Given the description of an element on the screen output the (x, y) to click on. 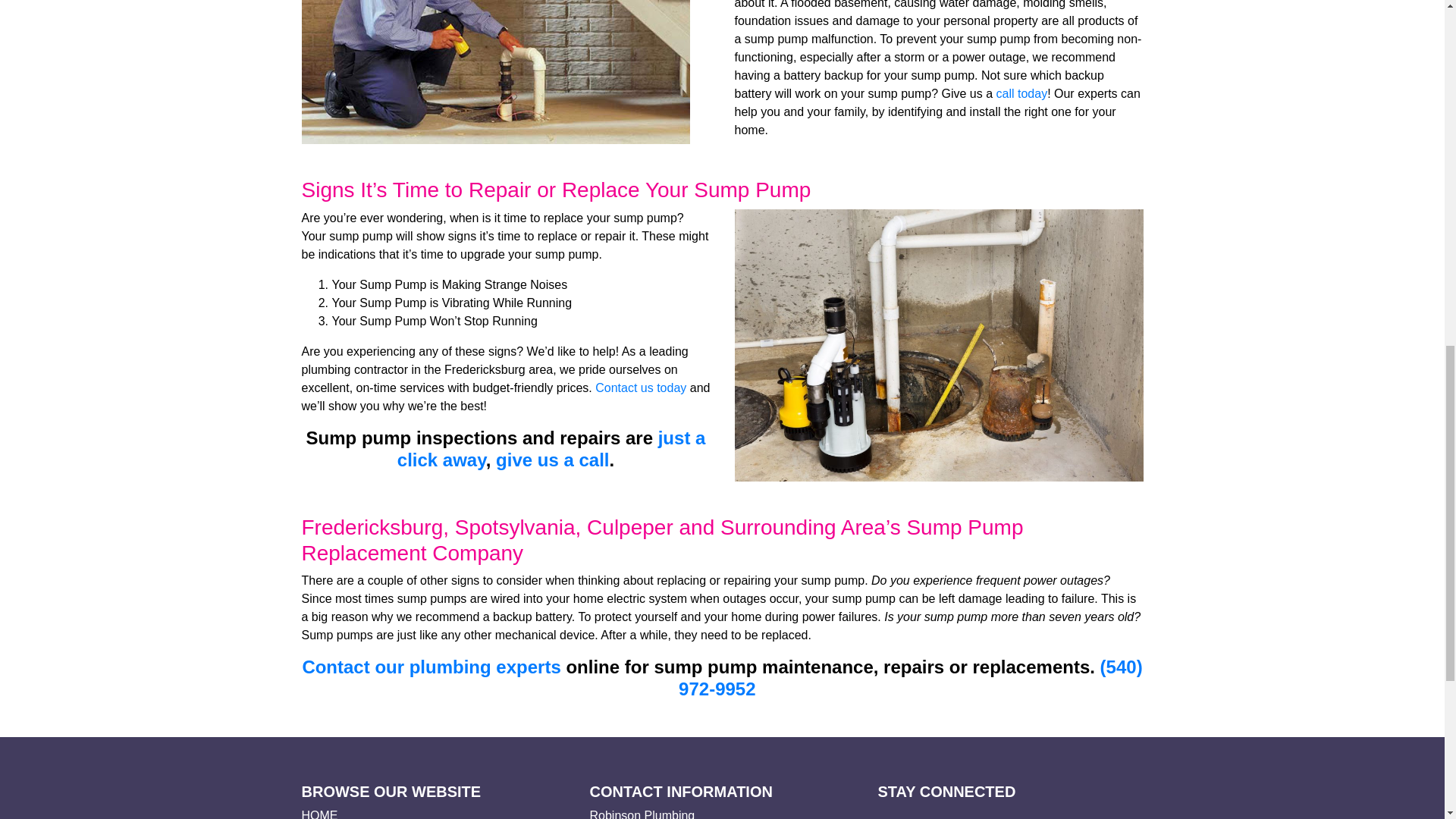
just a click away (551, 448)
call today (1021, 92)
Contact us today (640, 387)
give us a call (552, 459)
Contact our plumbing experts (430, 666)
Facebook (884, 816)
HOME (319, 814)
